Given the description of an element on the screen output the (x, y) to click on. 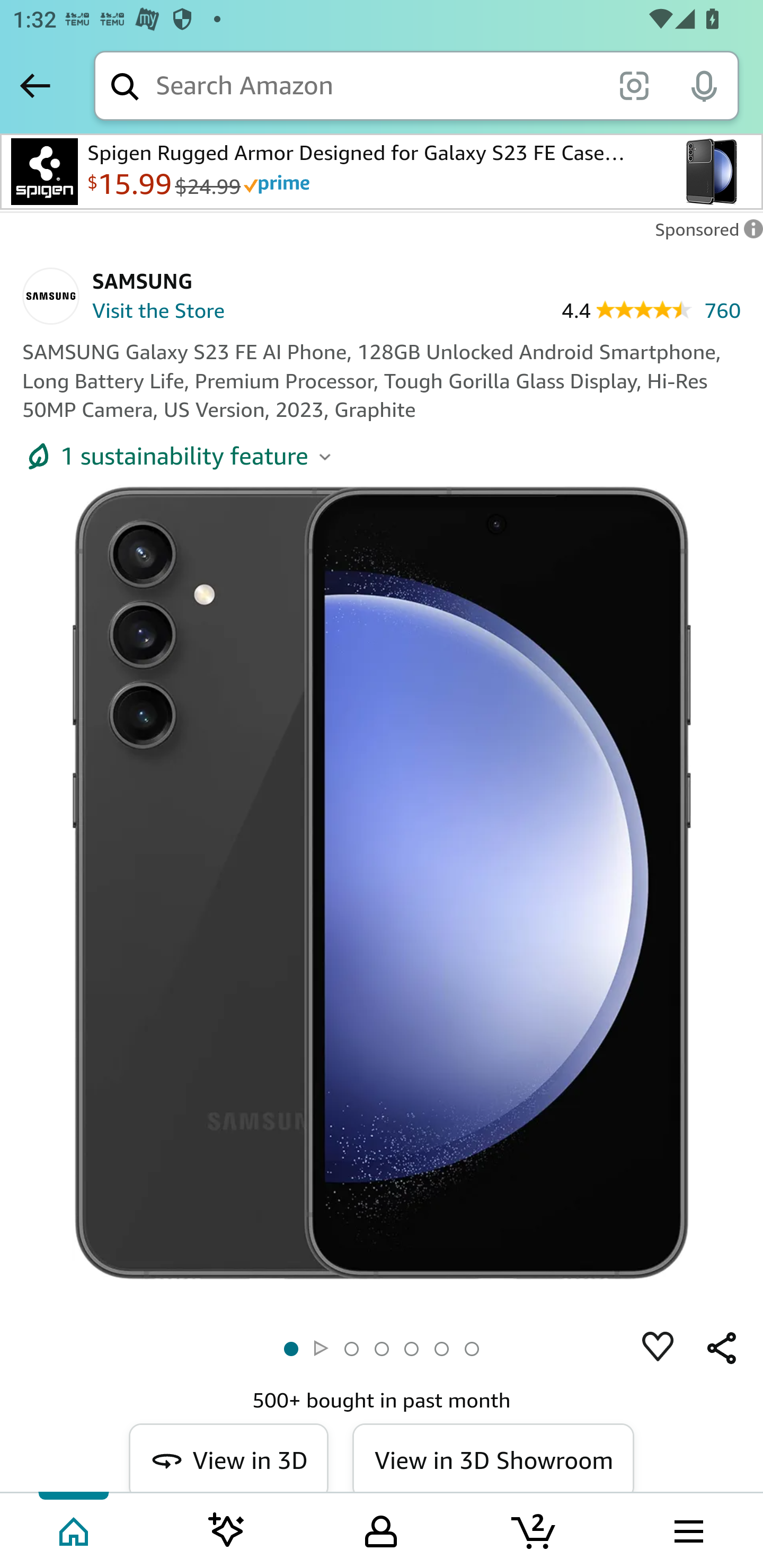
Back (35, 85)
scan it (633, 85)
Leave feedback on Sponsored ad Sponsored  (703, 234)
4.4 760 4.4  760 (650, 309)
Visit the Store, SAMSUNG (147, 312)
Heart to save an item to your default list (657, 1348)
View in 3D view360._CB586229963_ View in 3D (228, 1457)
View in 3D Showroom (492, 1457)
Home Tab 1 of 5 (75, 1529)
Inspire feed Tab 2 of 5 (227, 1529)
Your Amazon.com Tab 3 of 5 (380, 1529)
Cart 2 items Tab 4 of 5 2 (534, 1529)
Browse menu Tab 5 of 5 (687, 1529)
